Given the description of an element on the screen output the (x, y) to click on. 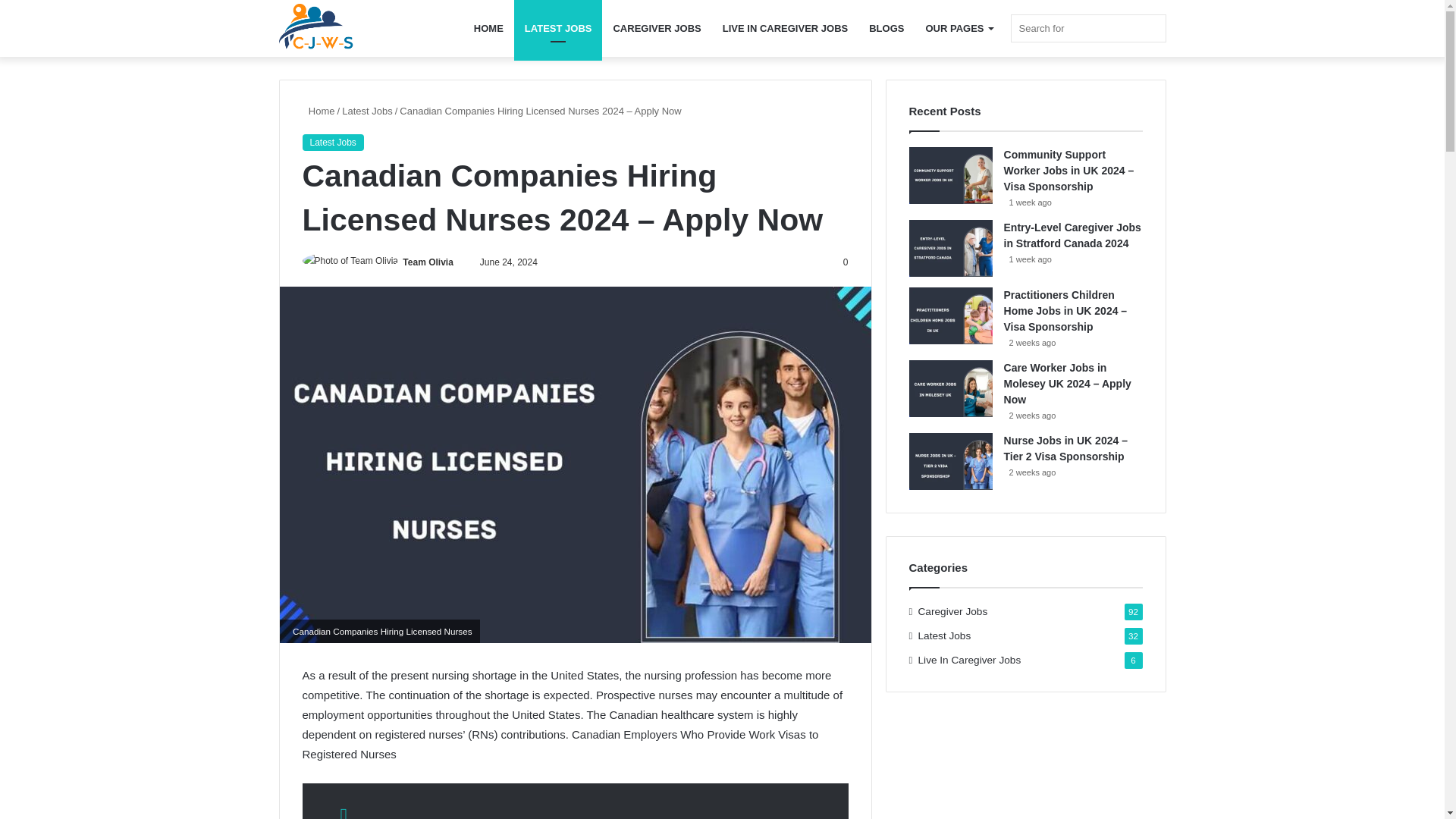
BLOGS (886, 28)
OUR PAGES (958, 28)
Search for (1088, 28)
Home (317, 111)
Latest Jobs (367, 111)
Team Olivia (427, 262)
Latest Jobs (331, 142)
LIVE IN CAREGIVER JOBS (785, 28)
Caregiver Jobs With Visa (317, 28)
CAREGIVER JOBS (656, 28)
Team Olivia (427, 262)
HOME (488, 28)
LATEST JOBS (557, 28)
